Given the description of an element on the screen output the (x, y) to click on. 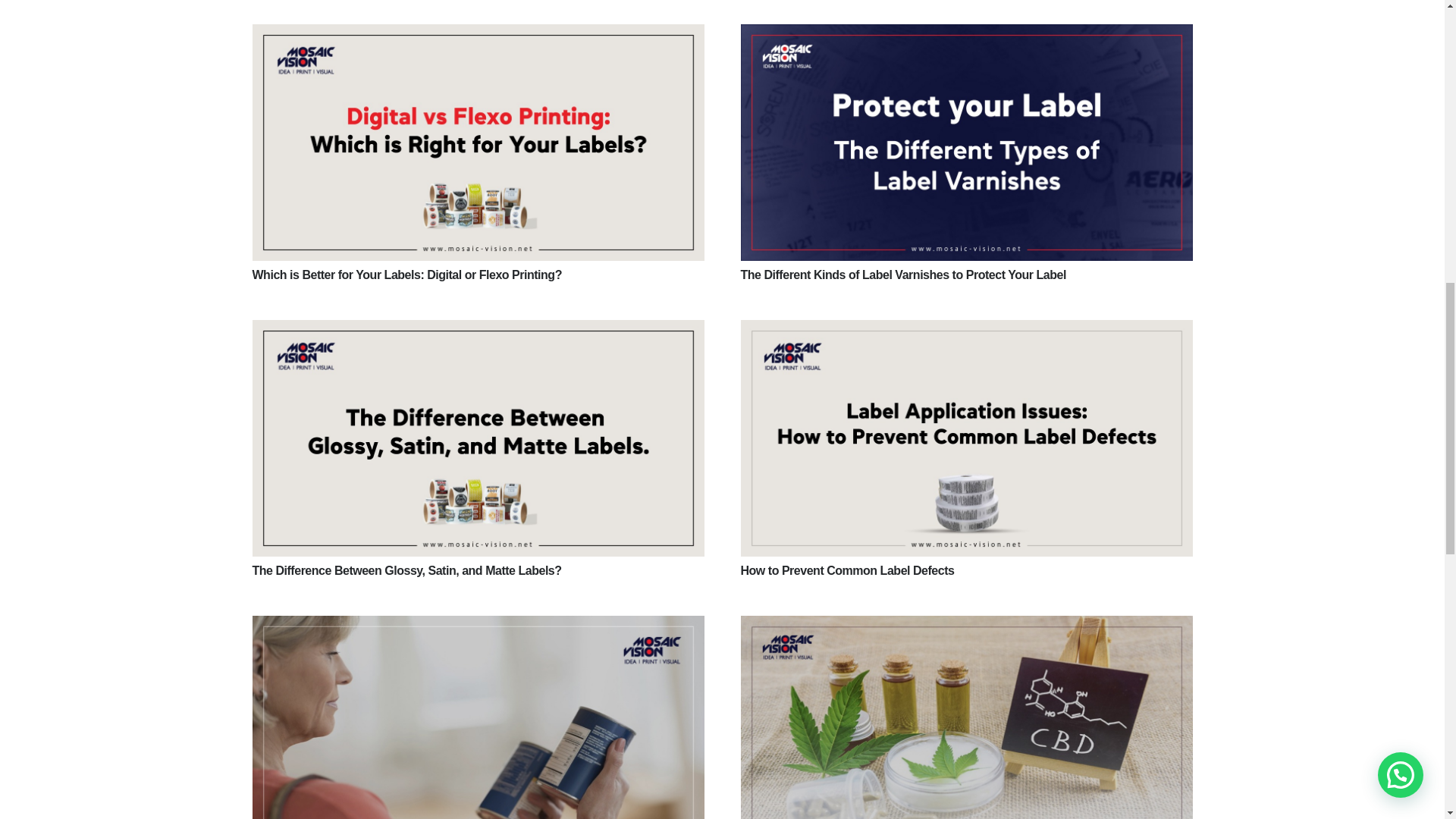
The Different Kinds of Label Varnishes to Protect Your Label (902, 274)
Back to top (30, 30)
Which is Better for Your Labels: Digital or Flexo Printing? (405, 274)
